Given the description of an element on the screen output the (x, y) to click on. 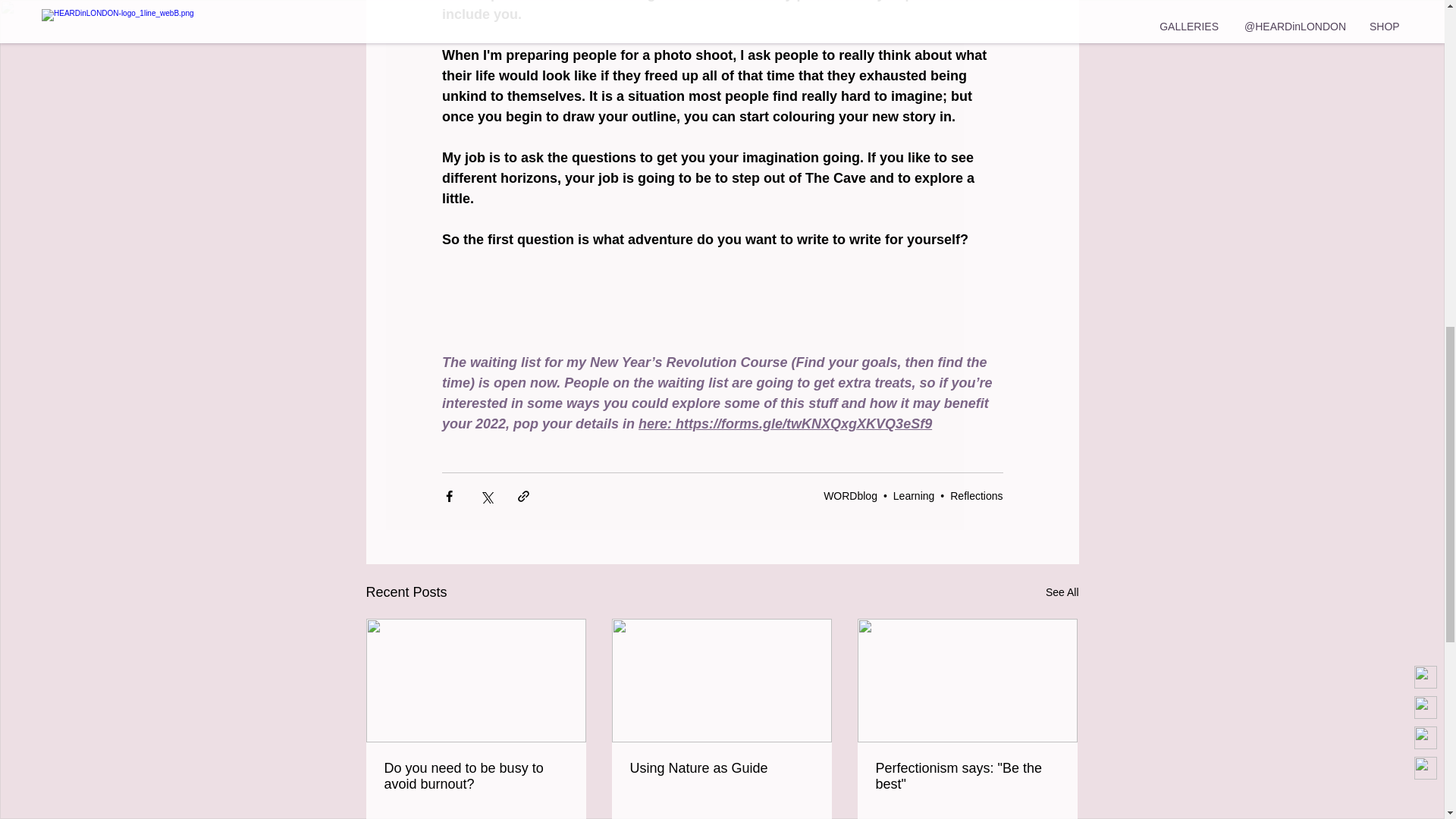
Reflections (976, 495)
WORDblog (850, 495)
See All (1061, 592)
Perfectionism says: "Be the best" (966, 776)
Using Nature as Guide (720, 768)
Learning (913, 495)
Do you need to be busy to avoid burnout? (475, 776)
